Given the description of an element on the screen output the (x, y) to click on. 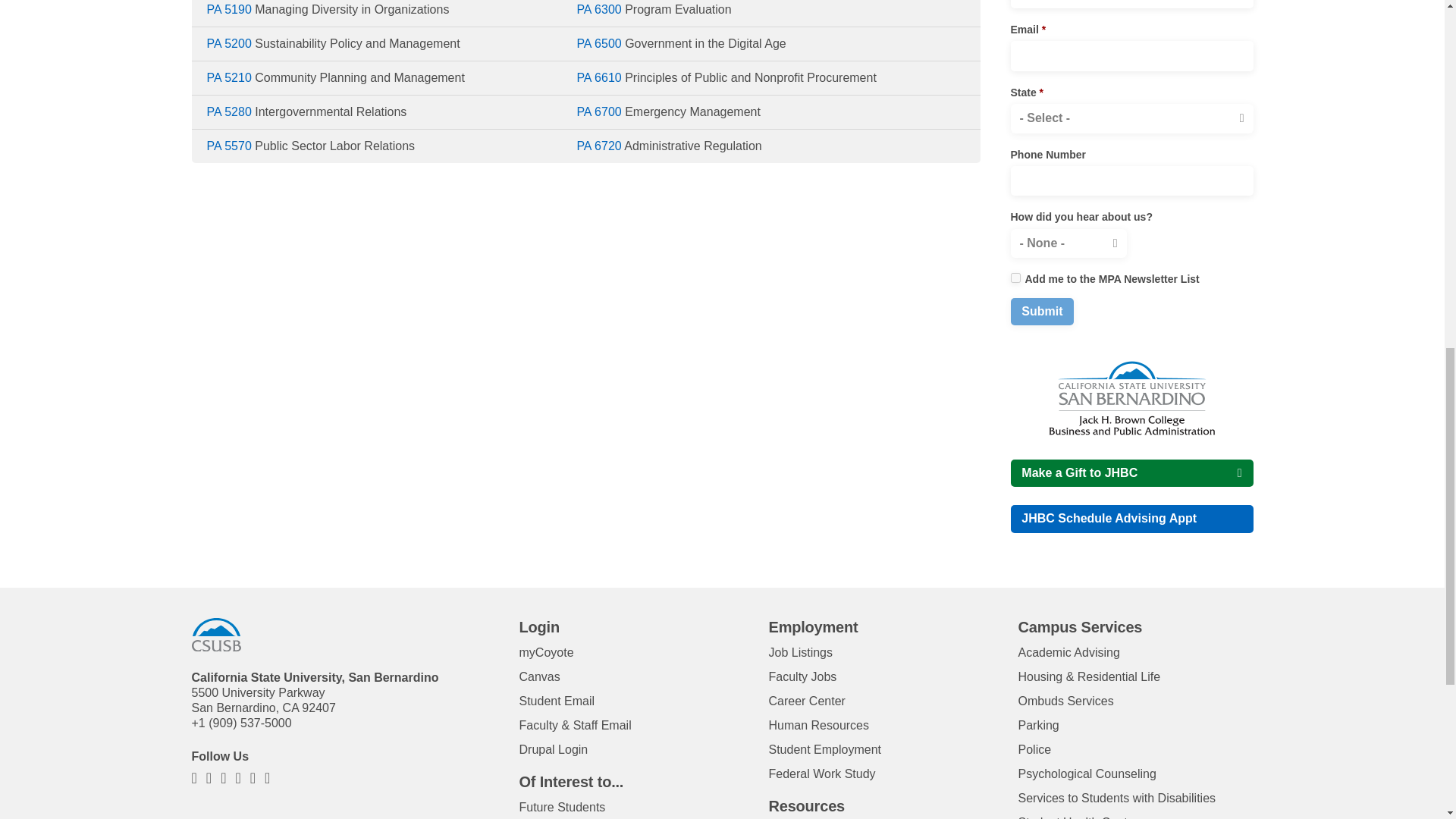
Submit (1042, 311)
CSUSB (215, 634)
Directs to "Future Students" landing page (561, 807)
1 (1015, 277)
